Given the description of an element on the screen output the (x, y) to click on. 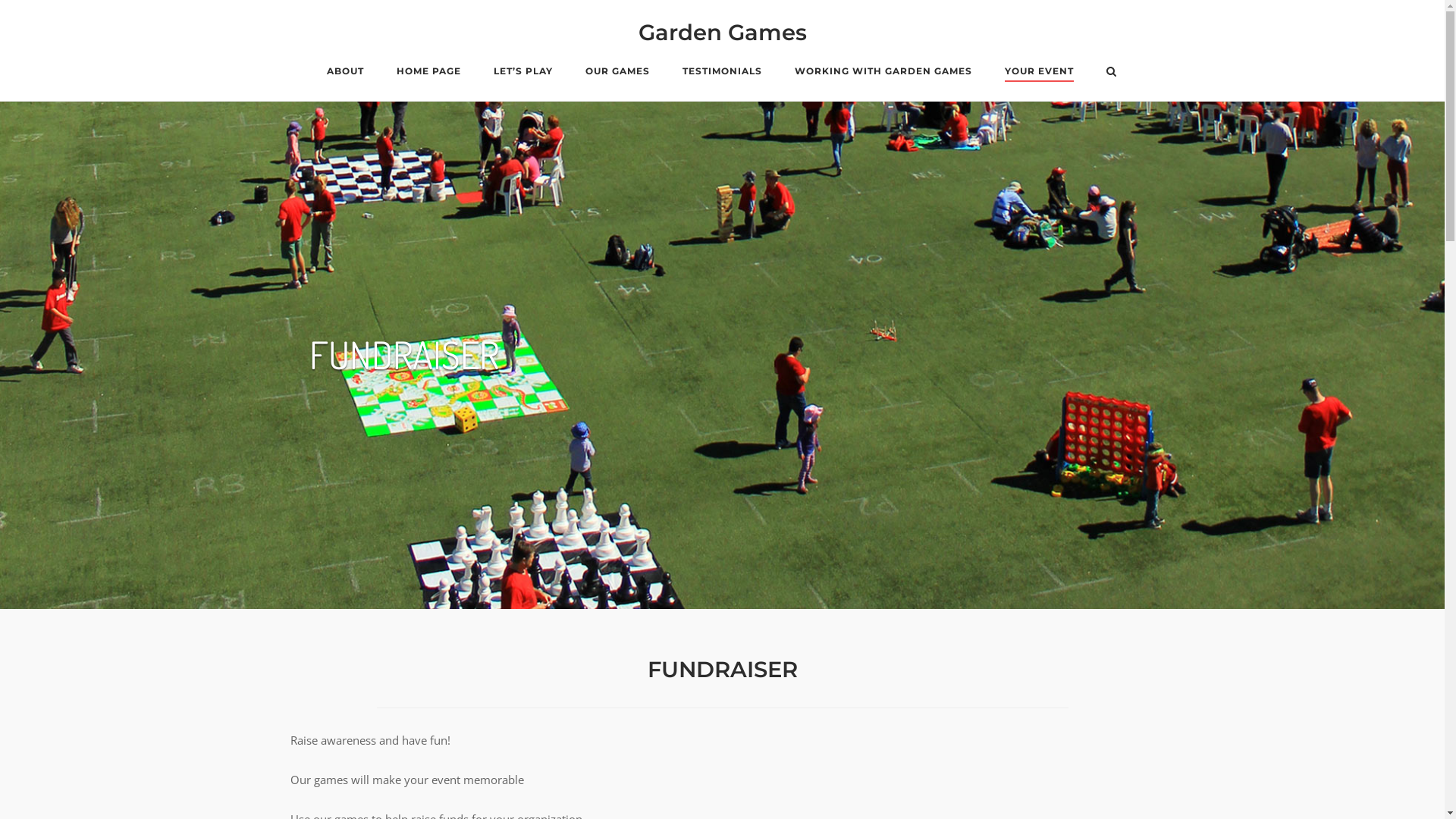
TESTIMONIALS Element type: text (722, 73)
YOUR EVENT Element type: text (1038, 73)
WORKING WITH GARDEN GAMES Element type: text (883, 73)
Garden Games Element type: text (722, 31)
HOME PAGE Element type: text (428, 73)
OUR GAMES Element type: text (617, 73)
ABOUT Element type: text (345, 73)
